Given the description of an element on the screen output the (x, y) to click on. 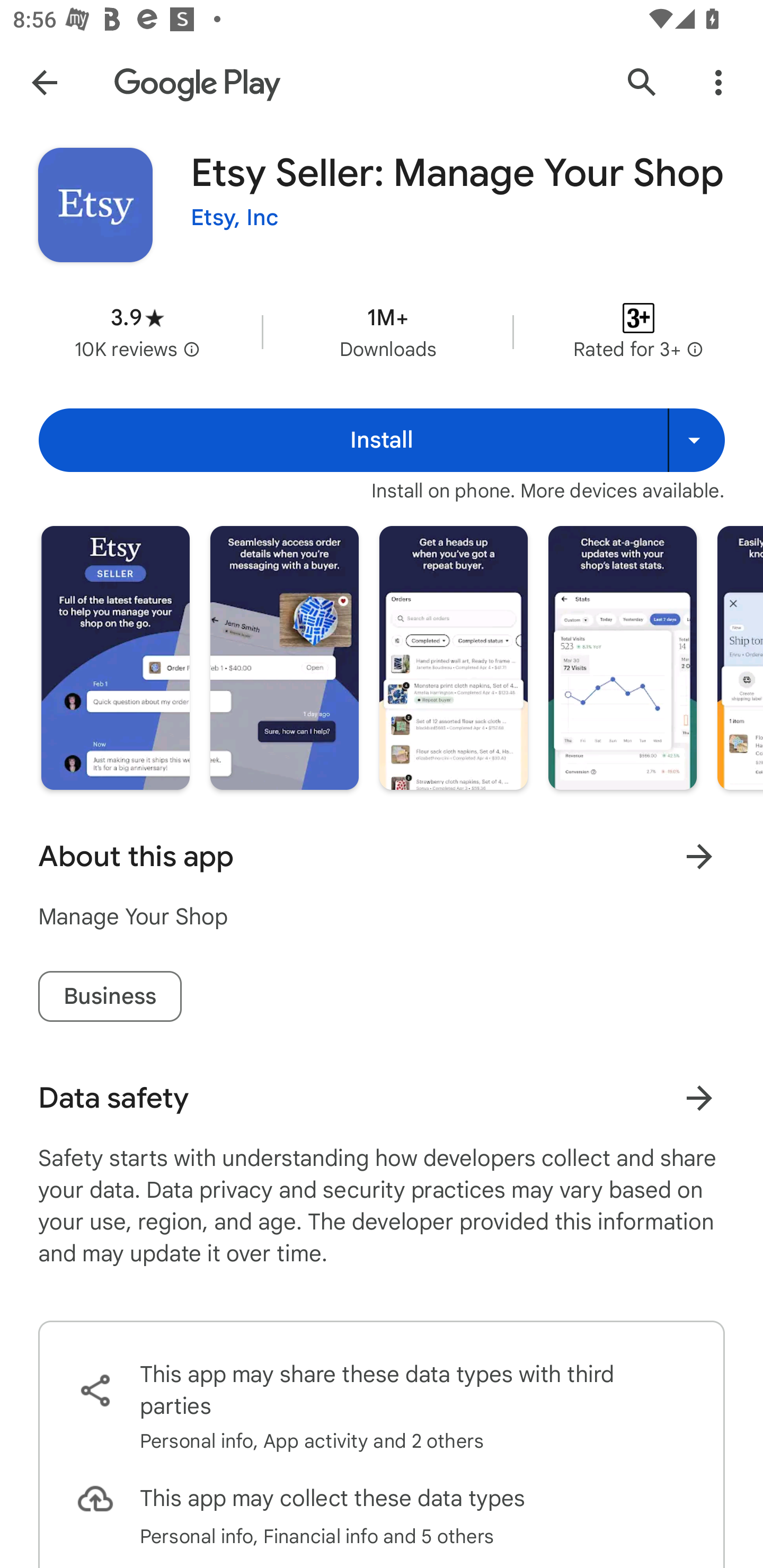
Navigate up (44, 81)
Search Google Play (642, 81)
More Options (718, 81)
Etsy, Inc (234, 217)
Average rating 3.9 stars in 10 thousand reviews (137, 331)
Content rating Rated for 3+ (638, 331)
Install Install Install on more devices (381, 439)
Install on more devices (695, 439)
Screenshot "1" of "8" (115, 657)
Screenshot "2" of "8" (284, 657)
Screenshot "3" of "8" (453, 657)
Screenshot "4" of "8" (622, 657)
About this app Learn more About this app (381, 856)
Learn more About this app (699, 856)
Business tag (109, 996)
Data safety Learn more about data safety (381, 1098)
Learn more about data safety (699, 1097)
